Given the description of an element on the screen output the (x, y) to click on. 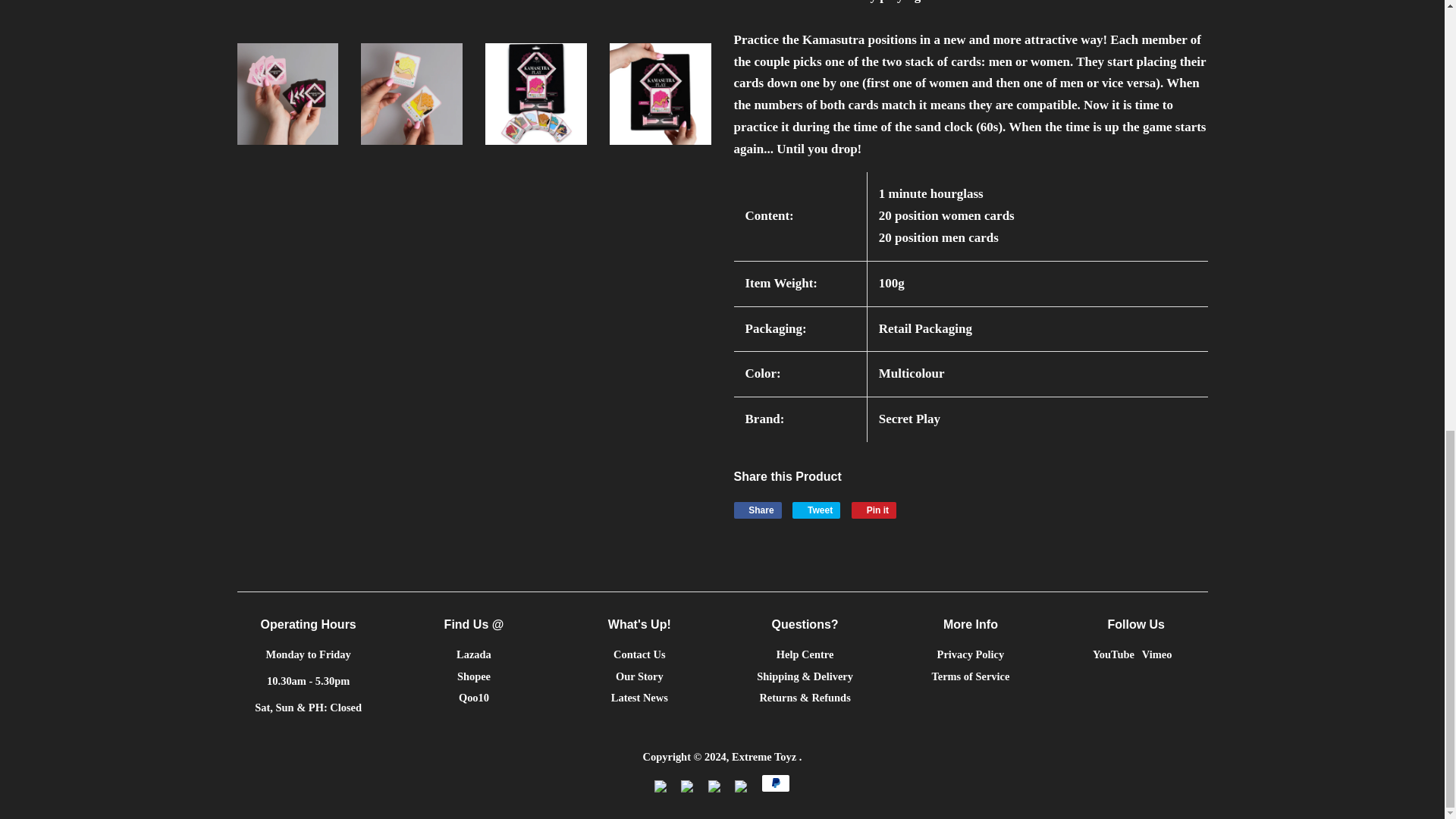
Terms of Service (970, 676)
Extreme Toyz  on Vimeo (1156, 654)
Help Centre (805, 654)
Pin on Pinterest (873, 510)
Share on Facebook (757, 510)
PayPal (775, 782)
Tweet on Twitter (816, 510)
Latest News (639, 697)
Contact Us (638, 654)
